Given the description of an element on the screen output the (x, y) to click on. 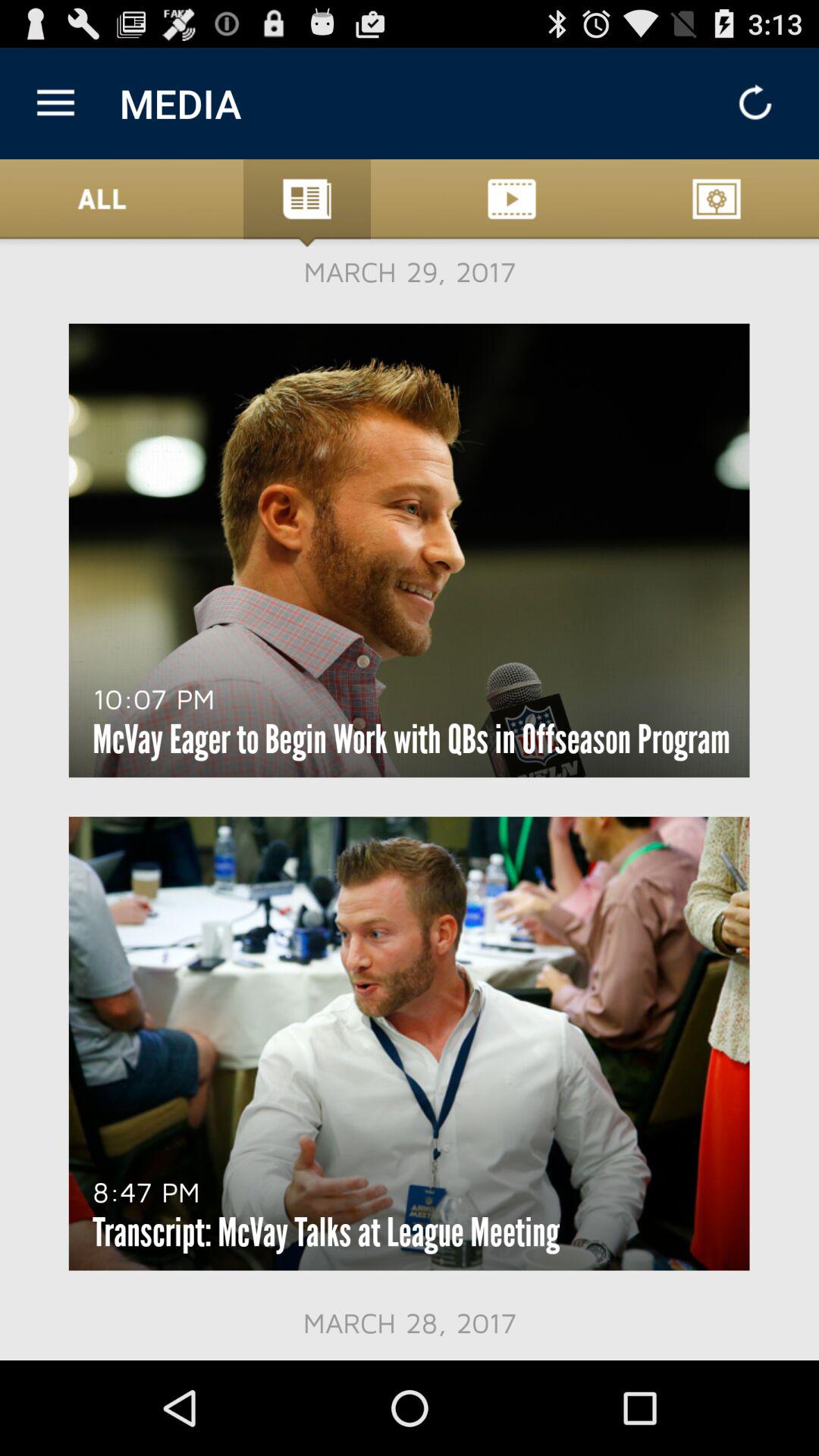
click the app to the left of media item (55, 103)
